Given the description of an element on the screen output the (x, y) to click on. 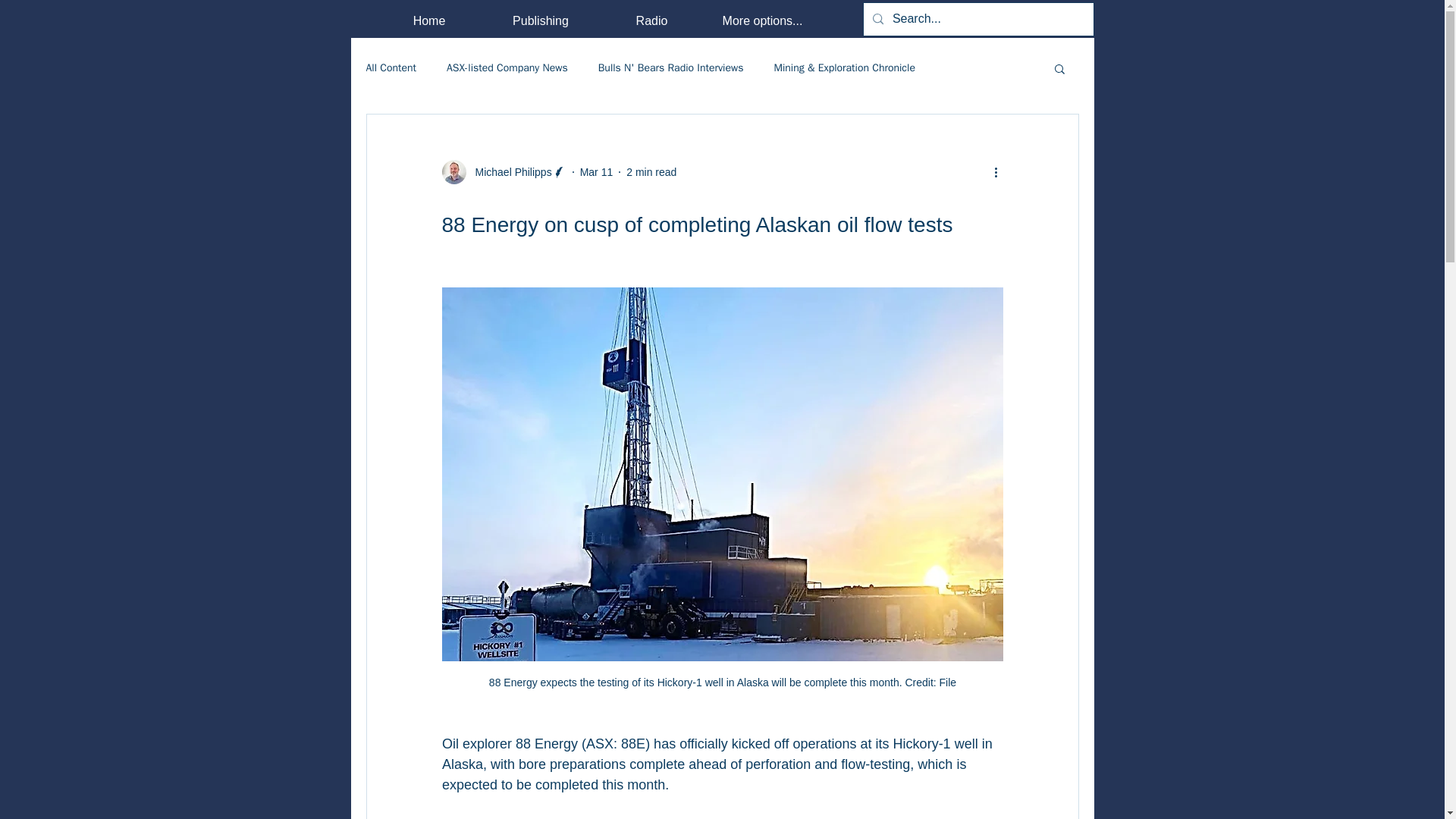
Mar 11 (595, 171)
Michael Philipps (503, 171)
ASX-listed Company News (506, 68)
Bulls N' Bears Radio Interviews (671, 68)
Michael Philipps (508, 171)
2 min read (651, 171)
All Content (390, 68)
Home (428, 20)
